Given the description of an element on the screen output the (x, y) to click on. 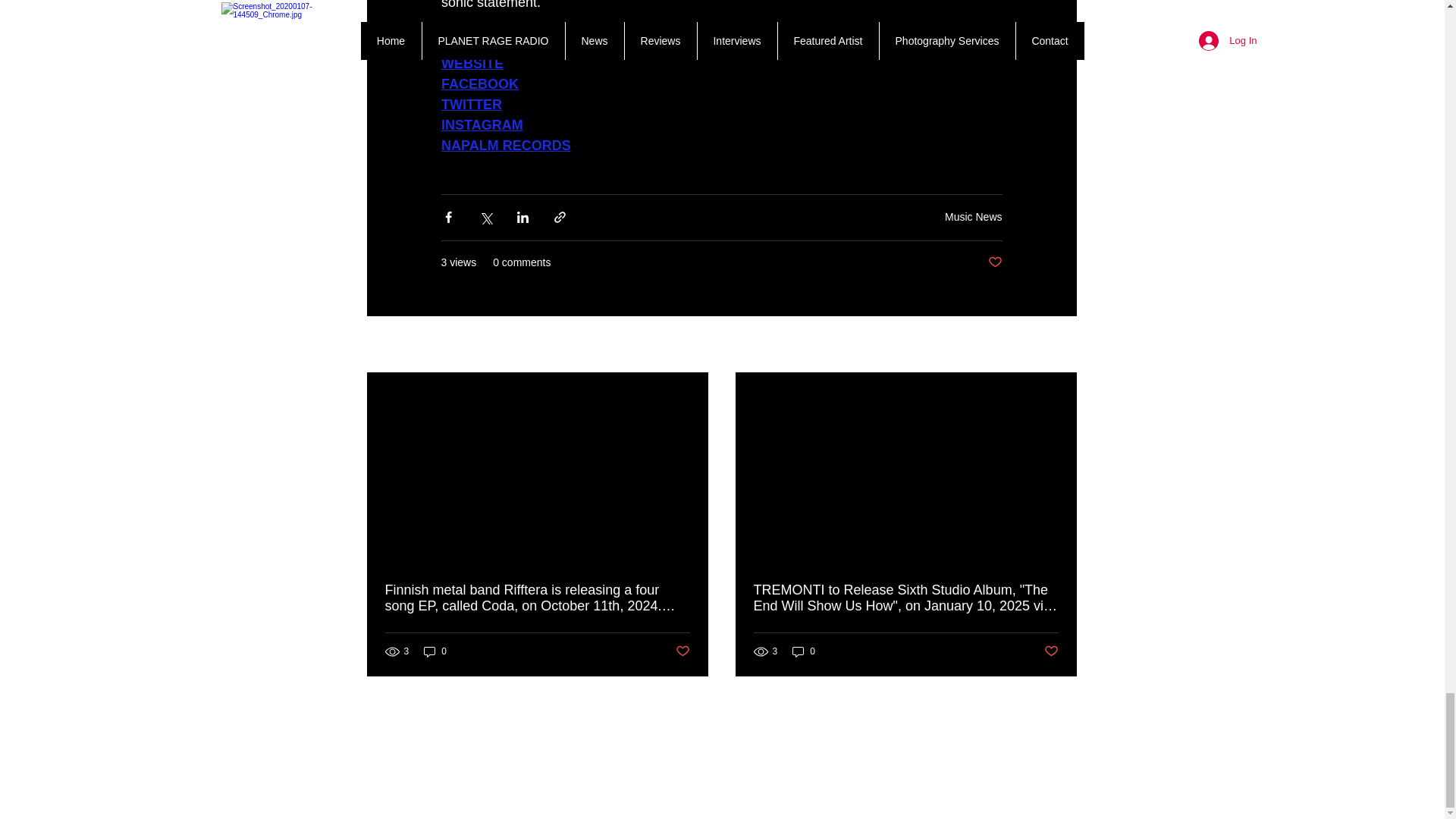
Post not marked as liked (994, 262)
INSTAGRAM (481, 124)
NAPALM RECORDS (505, 145)
TWITTER (471, 104)
Music News (972, 216)
WEBSITE (472, 63)
FACEBOOK (479, 83)
See All (1060, 345)
